Given the description of an element on the screen output the (x, y) to click on. 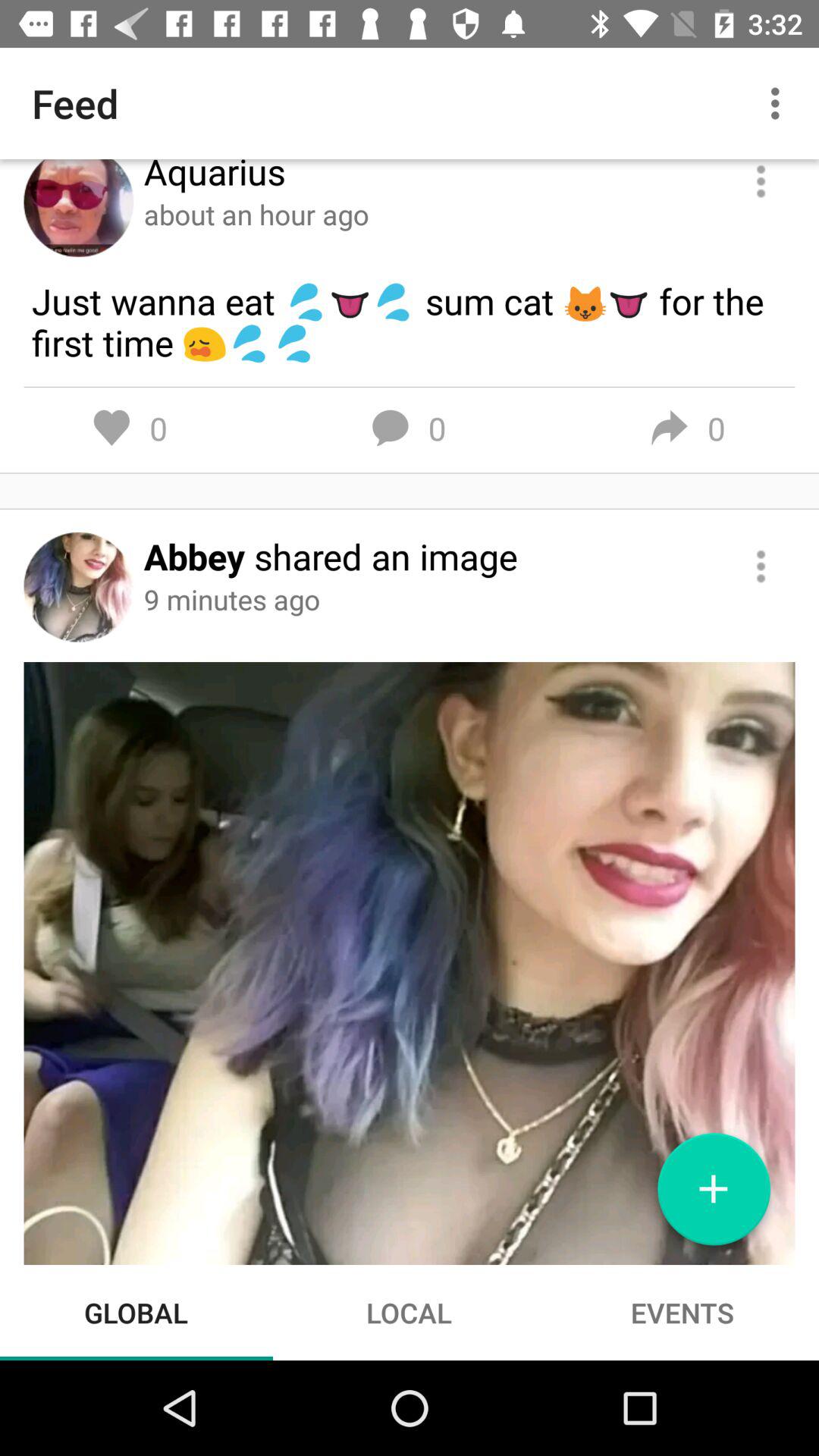
more information (760, 566)
